Given the description of an element on the screen output the (x, y) to click on. 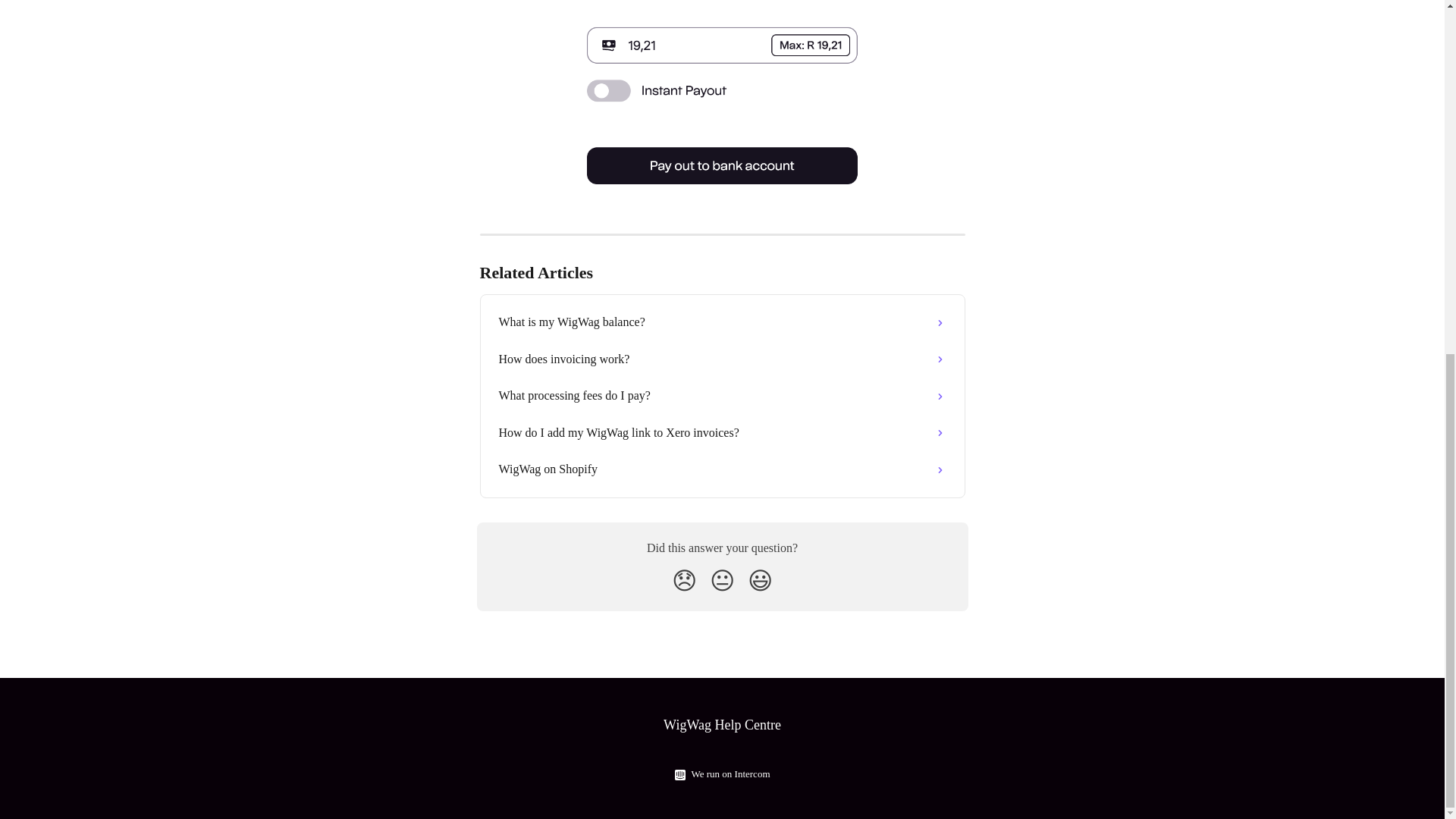
Disappointed (684, 580)
Smiley (760, 580)
Neutral (722, 580)
What is my WigWag balance? (722, 321)
WigWag on Shopify (722, 469)
We run on Intercom (727, 774)
What processing fees do I pay? (722, 395)
How do I add my WigWag link to Xero invoices? (722, 432)
How does invoicing work? (722, 359)
WigWag Help Centre (721, 724)
